Given the description of an element on the screen output the (x, y) to click on. 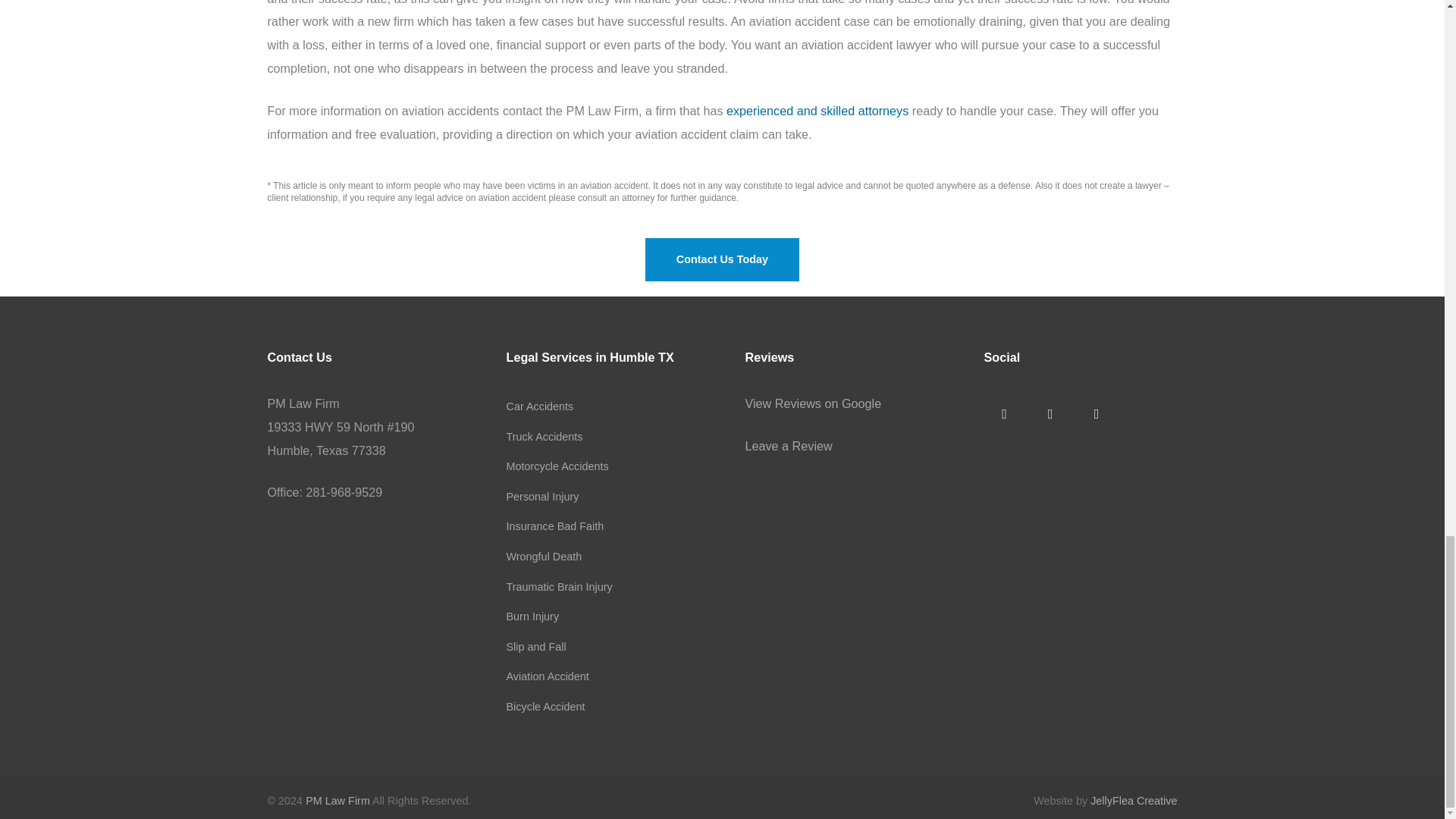
PM Law Firm on Linkedin (1095, 413)
Houston Web Design (1133, 800)
PM Law Firm on Facebook (1004, 413)
PM Law Firm on X Twitter (1049, 413)
